Given the description of an element on the screen output the (x, y) to click on. 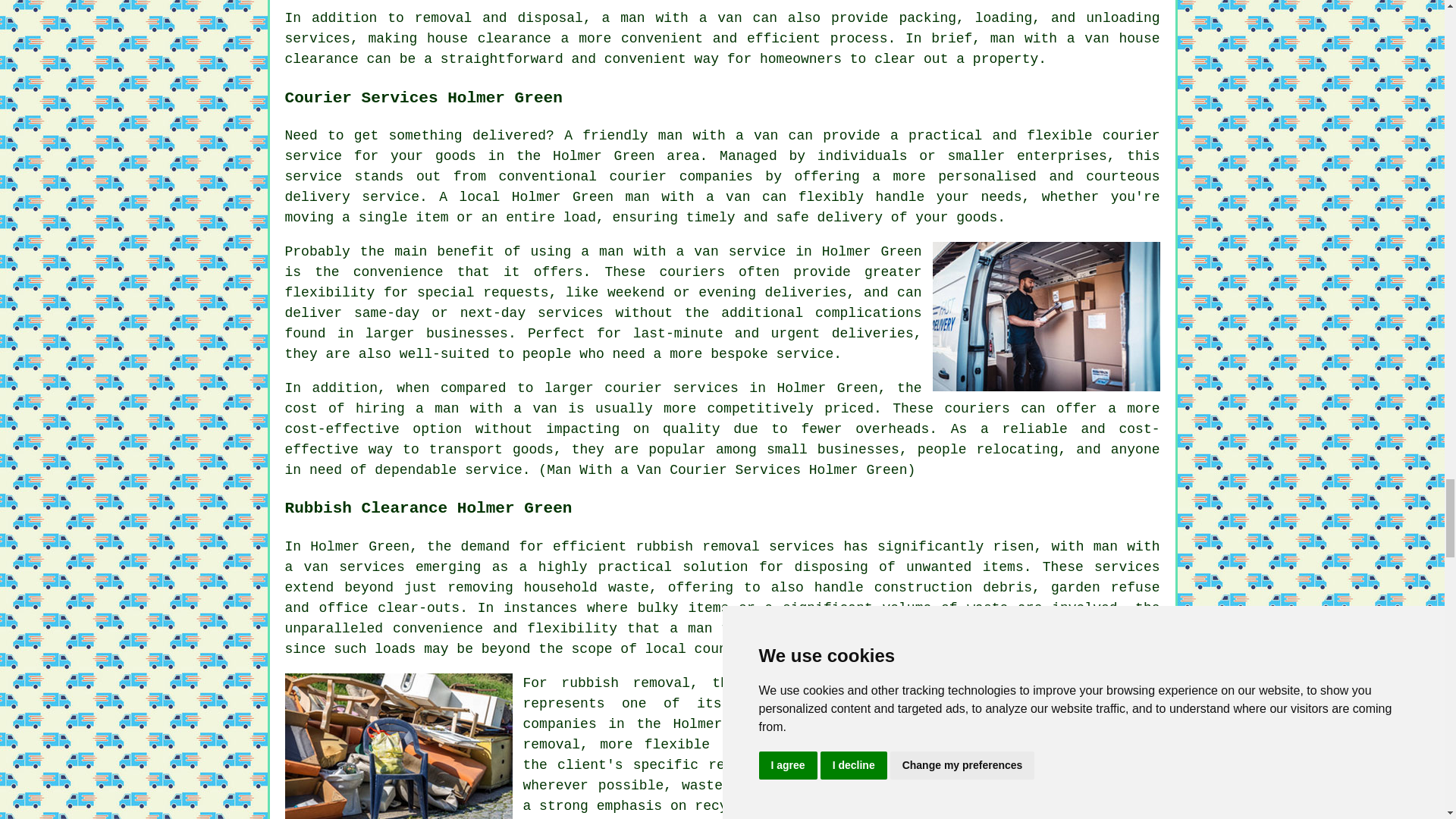
man with a van (718, 135)
a man with a van (672, 17)
